Given the description of an element on the screen output the (x, y) to click on. 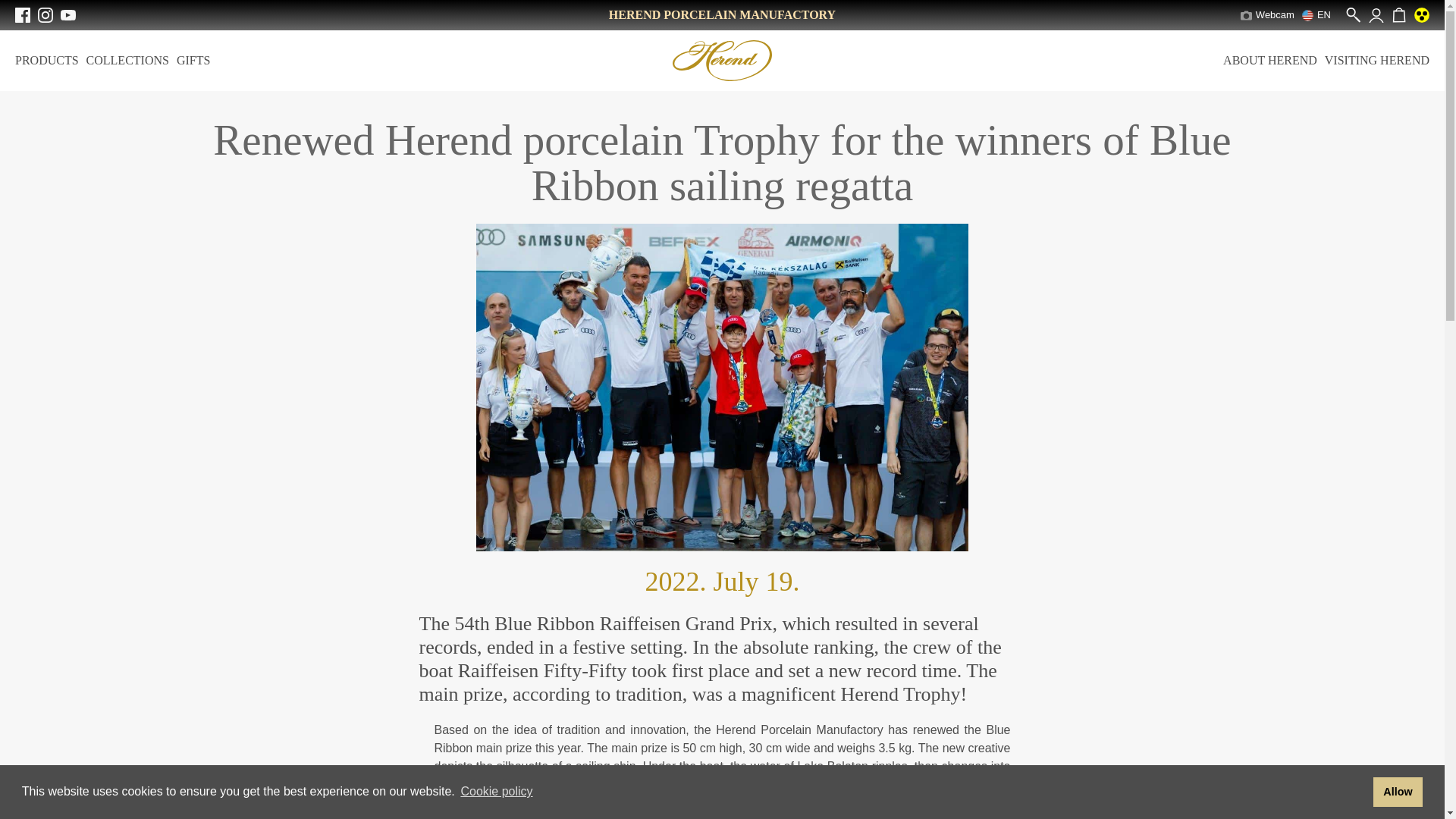
Cookie policy (496, 791)
Allow (1397, 791)
